Given the description of an element on the screen output the (x, y) to click on. 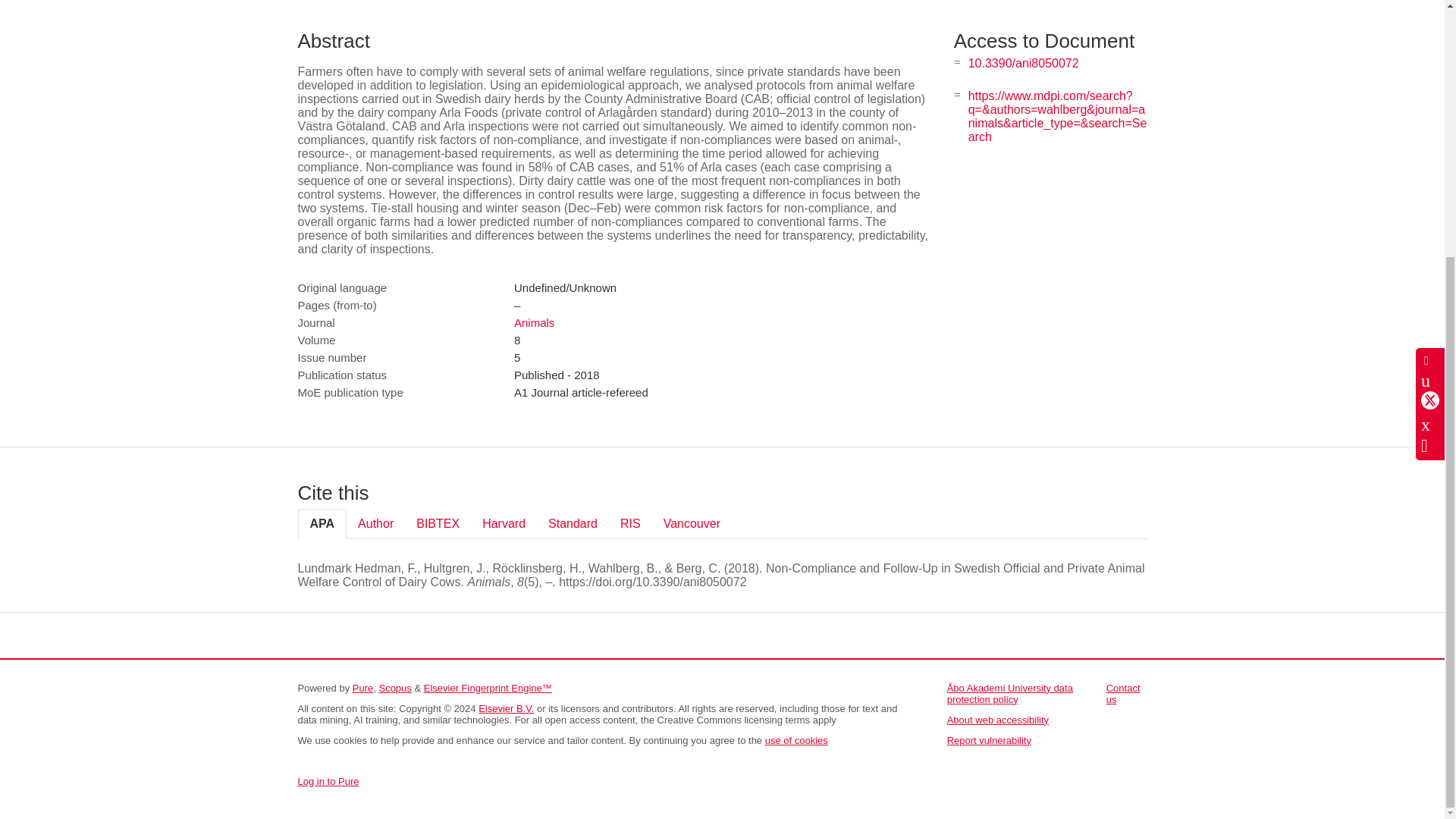
use of cookies (796, 740)
Animals (533, 322)
Elsevier B.V. (506, 708)
Scopus (394, 687)
Log in to Pure (327, 781)
Pure (362, 687)
